Given the description of an element on the screen output the (x, y) to click on. 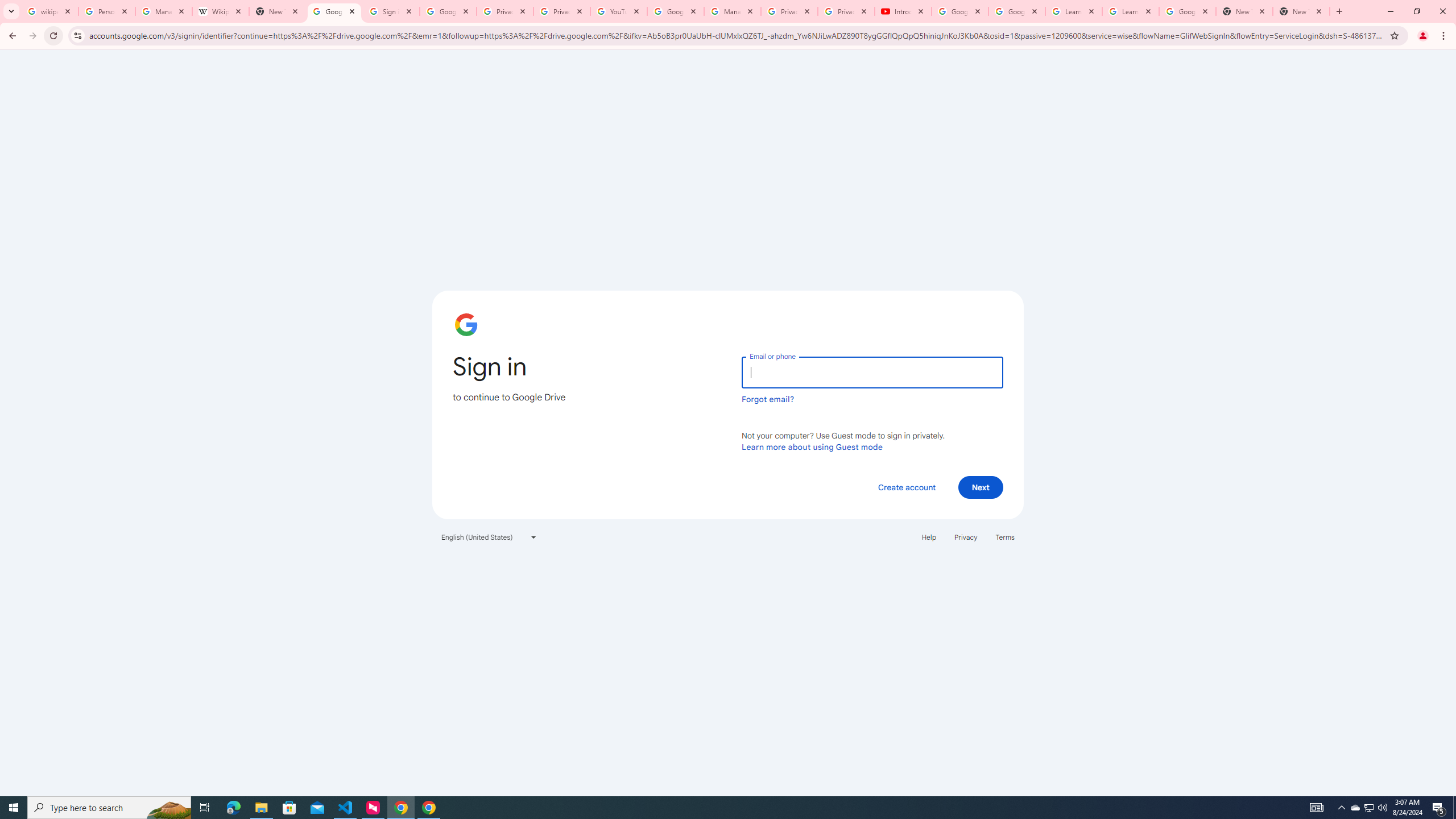
Google Account (1187, 11)
Manage your Location History - Google Search Help (163, 11)
Create account (905, 486)
New Tab (1244, 11)
Google Drive: Sign-in (334, 11)
Google Account Help (1015, 11)
New Tab (1301, 11)
